Given the description of an element on the screen output the (x, y) to click on. 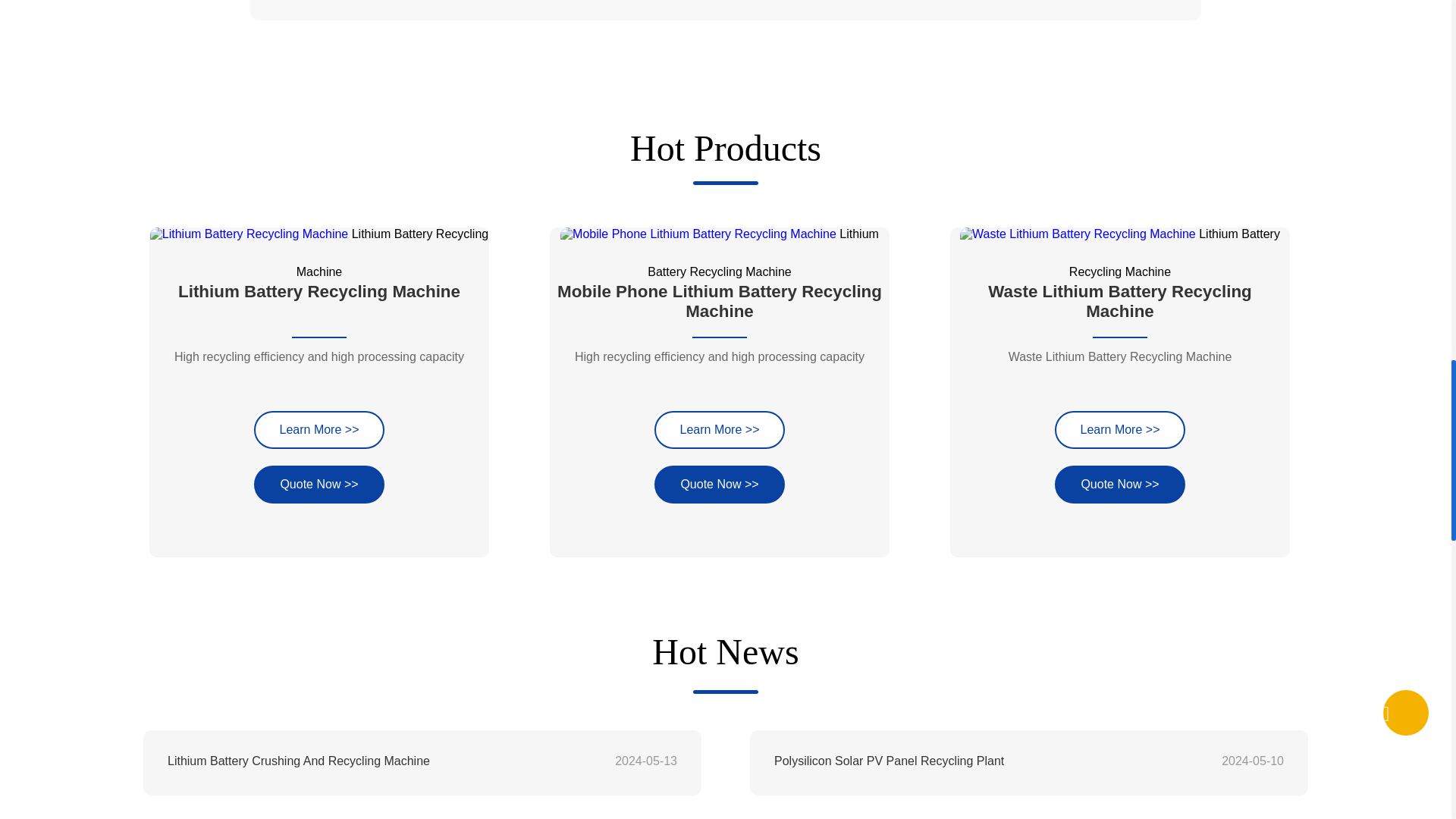
Lithium Battery Crushing And Recycling Machine (371, 761)
Polysilicon Solar PV Panel Recycling Plant (978, 761)
